Given the description of an element on the screen output the (x, y) to click on. 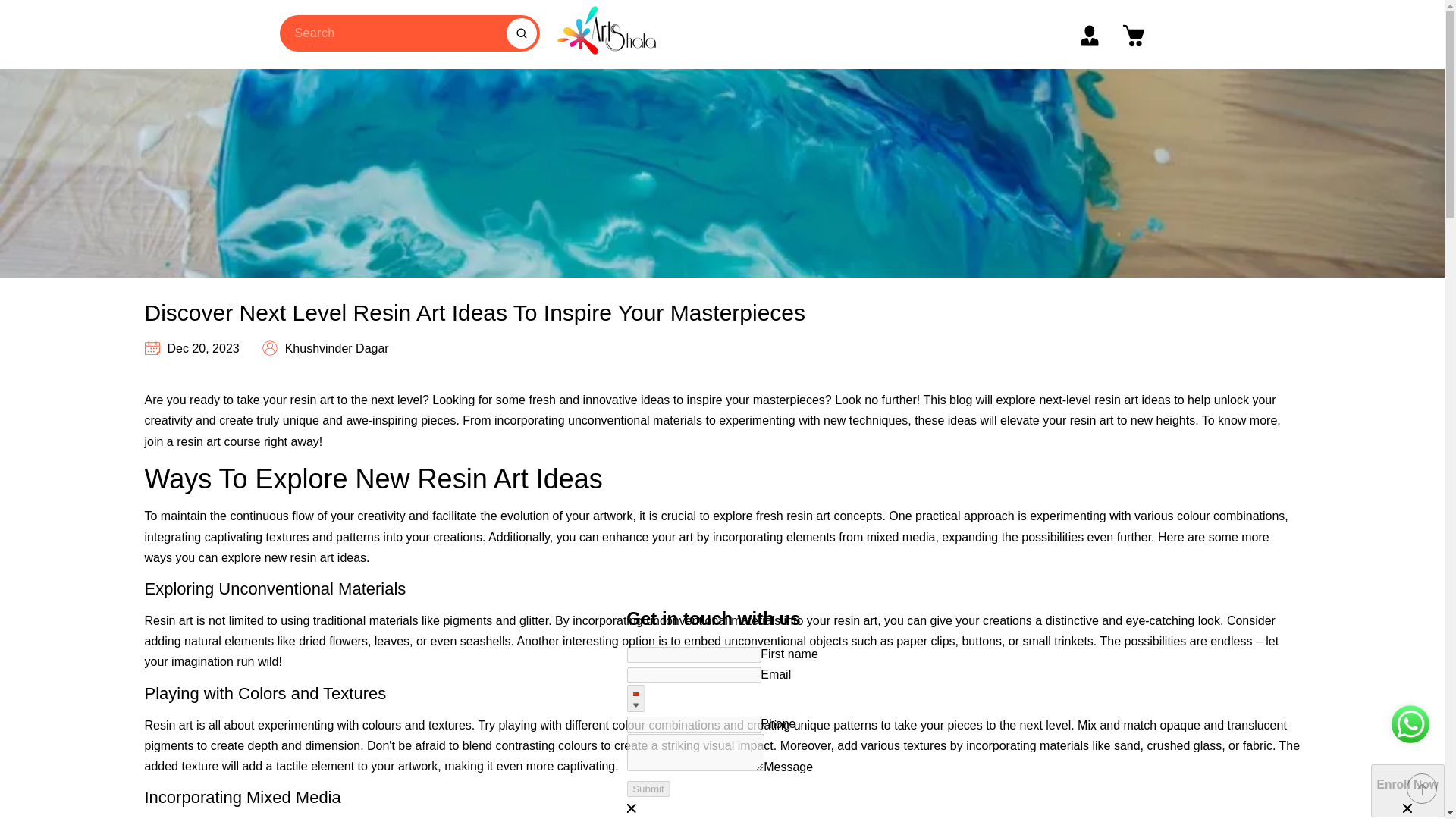
Skip To Content (24, 8)
